Given the description of an element on the screen output the (x, y) to click on. 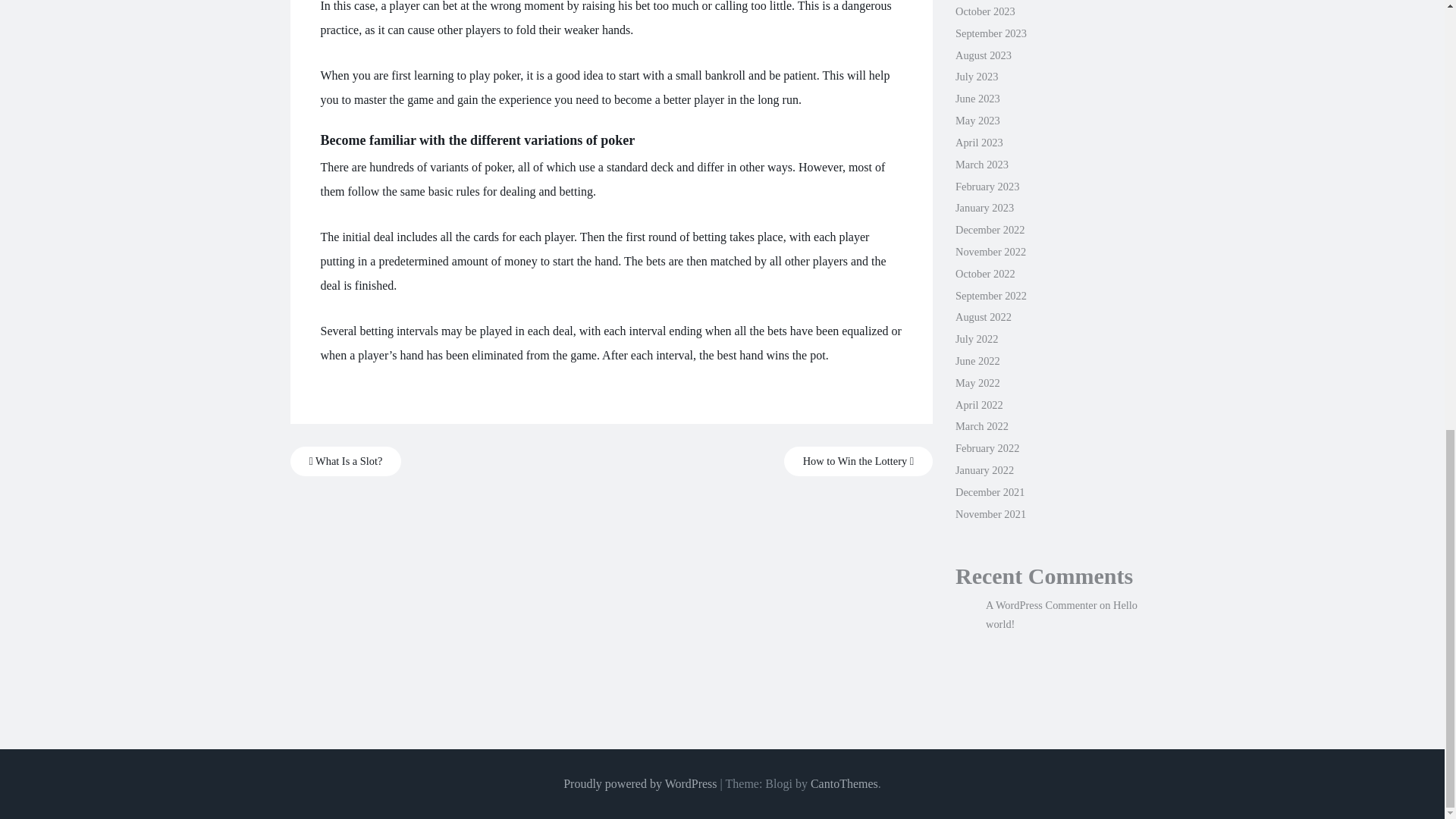
December 2022 (990, 229)
August 2023 (983, 55)
October 2023 (984, 10)
September 2023 (990, 33)
April 2023 (979, 142)
February 2023 (987, 186)
What Is a Slot? (345, 460)
How to Win the Lottery (858, 460)
January 2023 (984, 207)
July 2023 (976, 76)
May 2023 (977, 120)
June 2023 (977, 98)
March 2023 (982, 164)
